Given the description of an element on the screen output the (x, y) to click on. 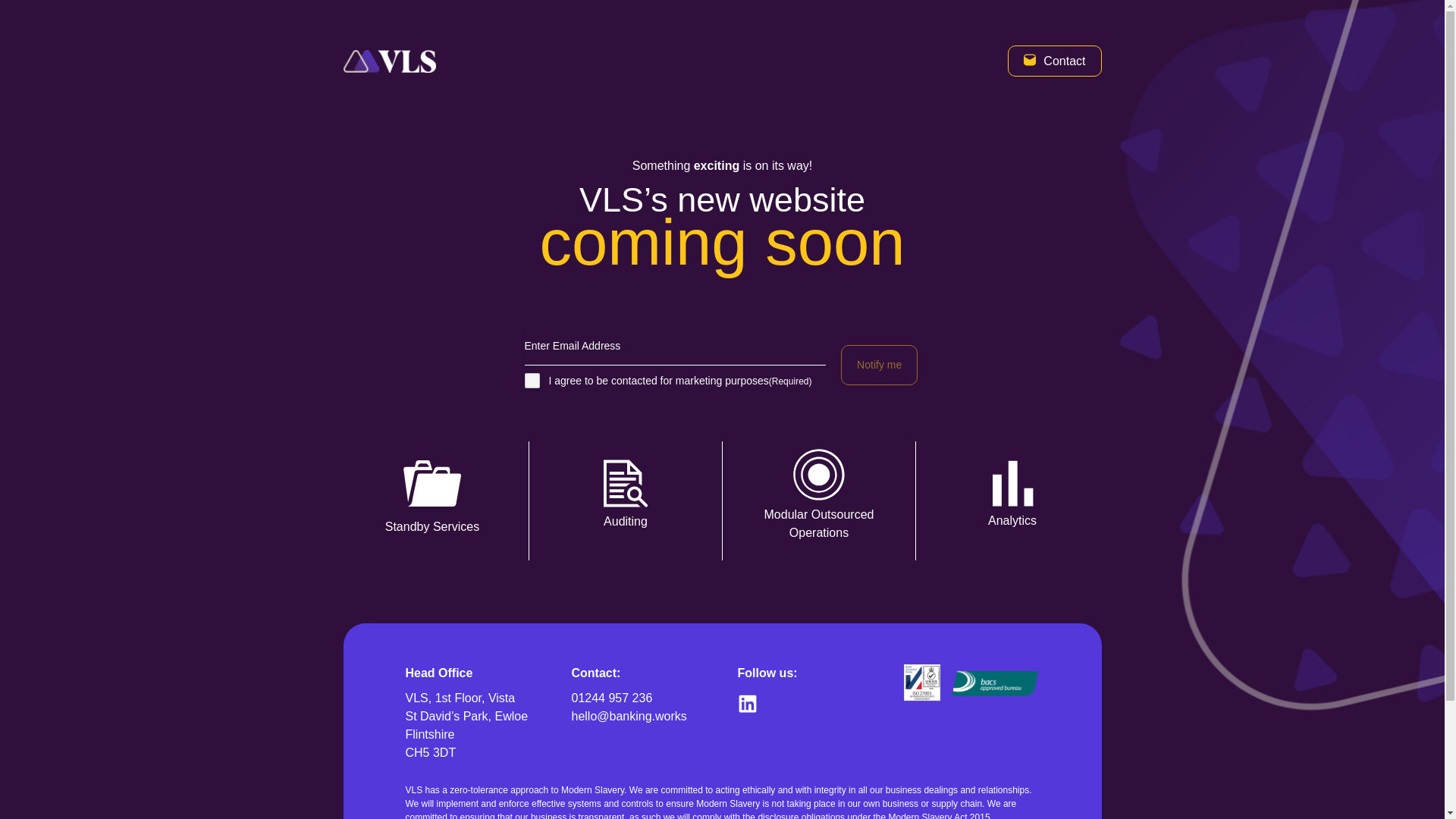
Contact (1053, 60)
1 (532, 380)
01244 957 236 (612, 697)
Notify me (879, 364)
Notify me (879, 364)
